Given the description of an element on the screen output the (x, y) to click on. 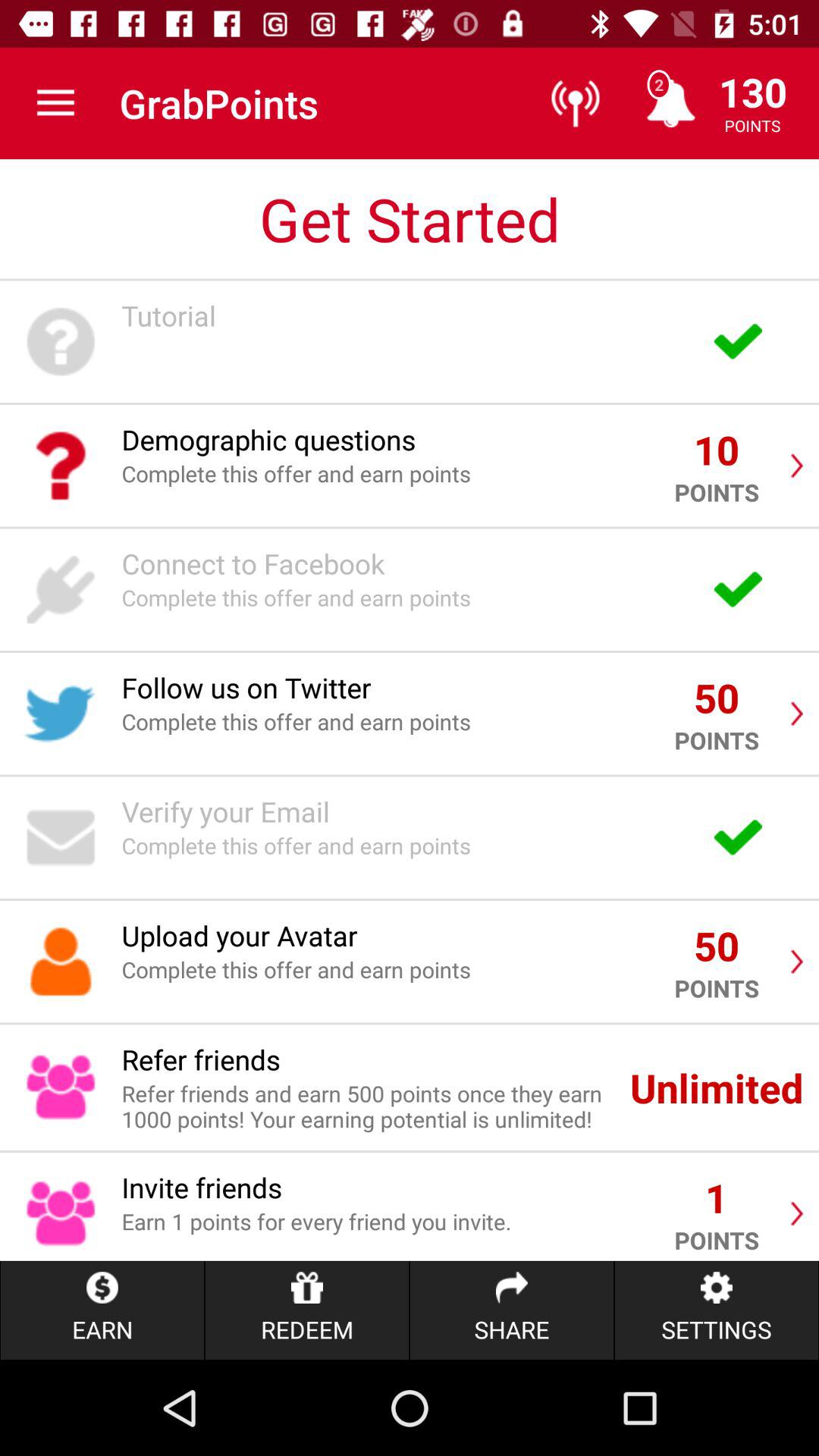
launch the item next to the grabpoints item (55, 103)
